Given the description of an element on the screen output the (x, y) to click on. 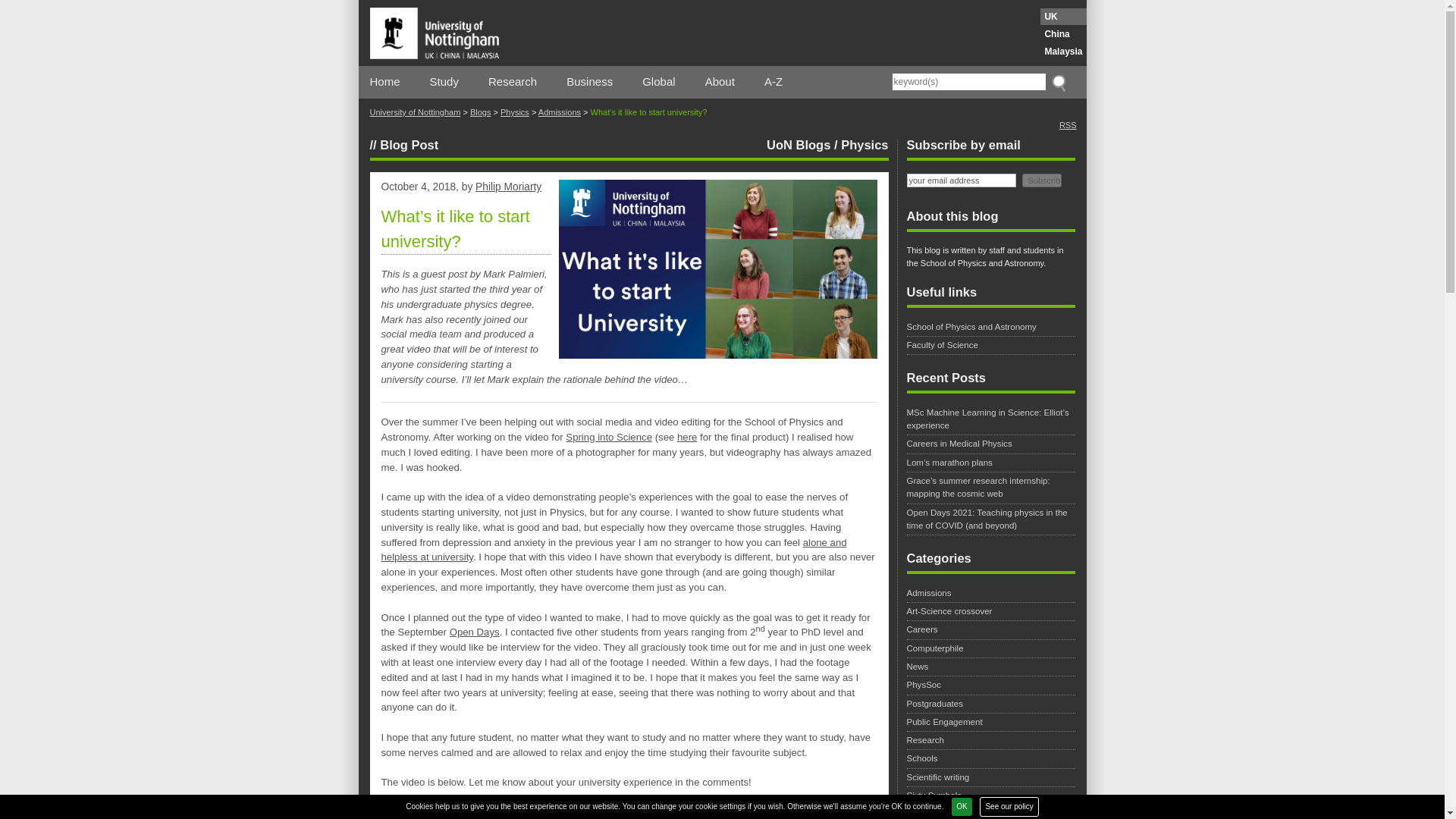
UoN Blogs (798, 144)
here (687, 437)
China (1063, 33)
Malaysia (1063, 51)
alone and helpless at university (612, 550)
Business (589, 81)
Physics (864, 144)
OK (961, 806)
Open Days (474, 632)
University of Nottingham (415, 112)
A-Z (773, 81)
Physics (514, 112)
Global (658, 81)
Study (443, 81)
UK (1063, 16)
